Given the description of an element on the screen output the (x, y) to click on. 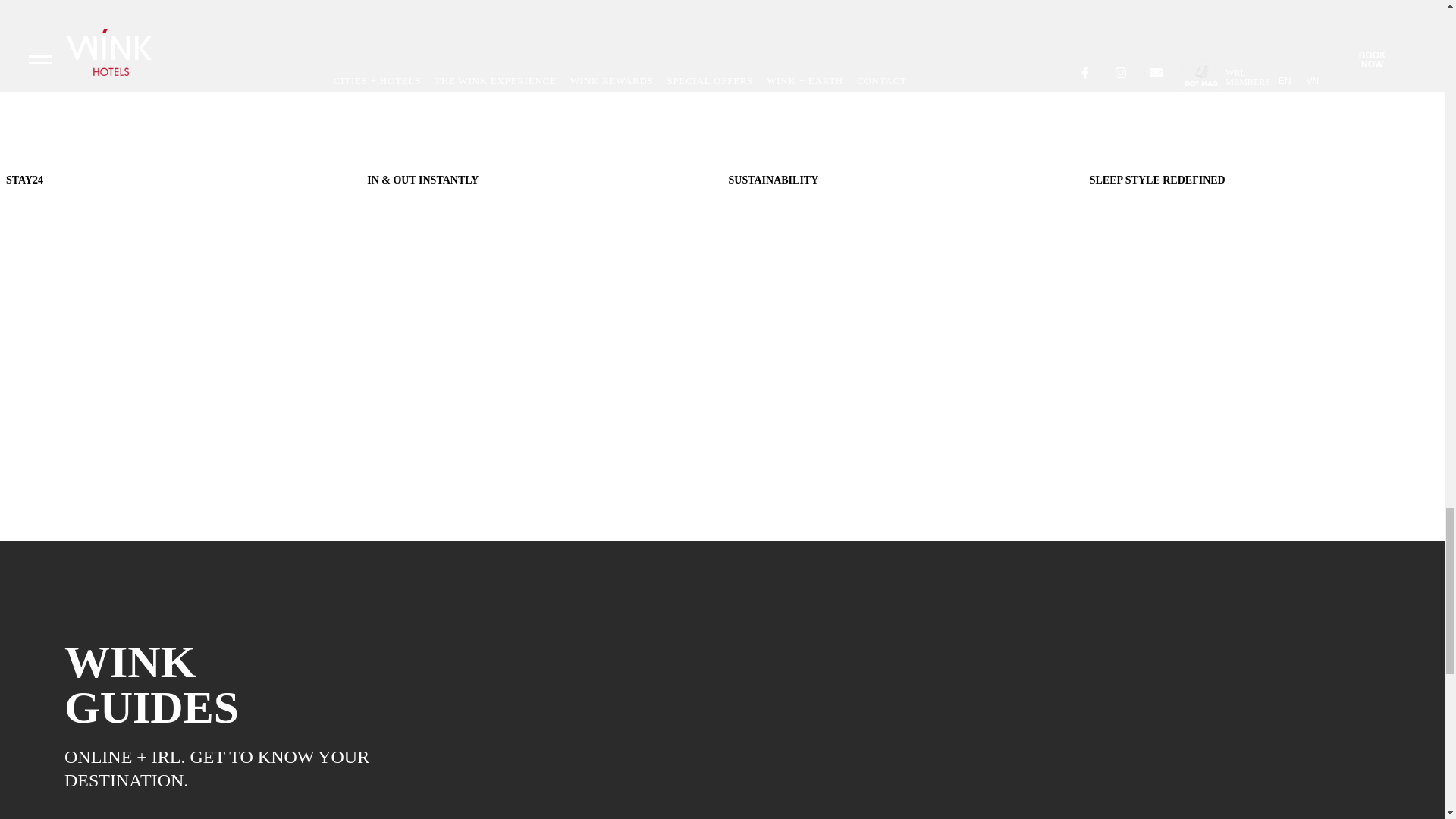
US-Green-Building-Council (902, 341)
